Given the description of an element on the screen output the (x, y) to click on. 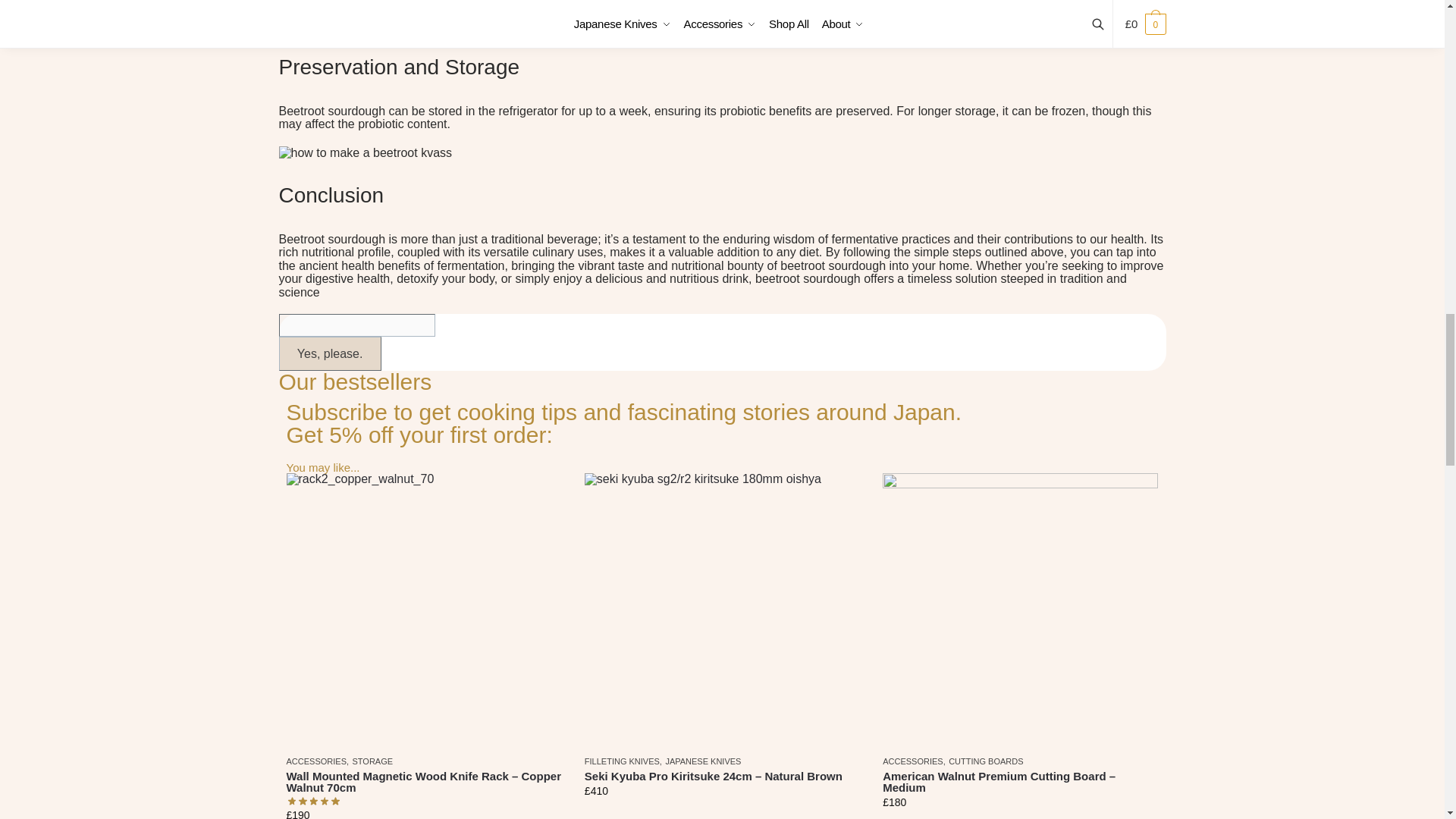
Yes, please. (330, 353)
